Given the description of an element on the screen output the (x, y) to click on. 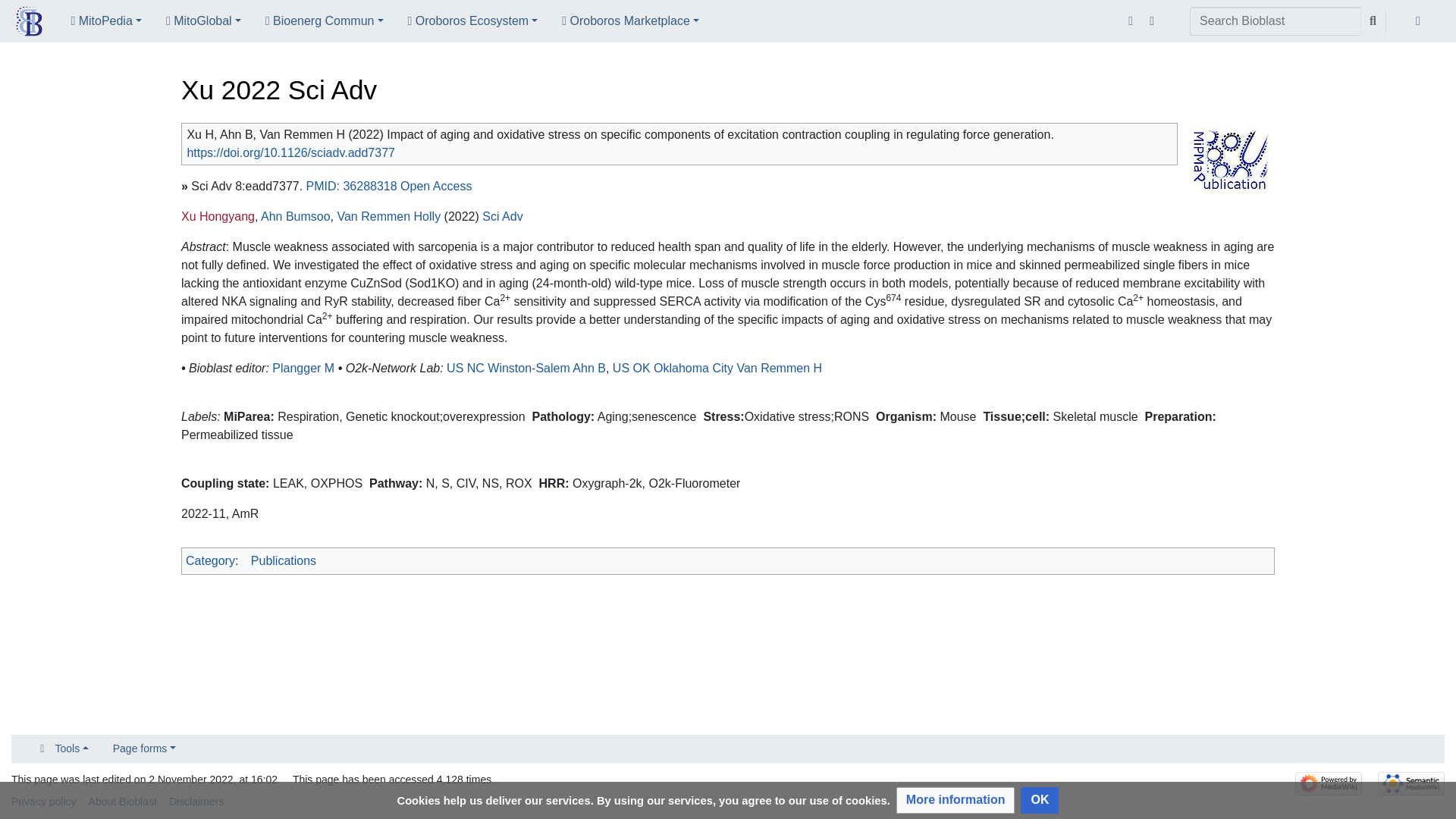
US NC Winston-Salem Ahn B (525, 367)
Plangger M (303, 367)
Van Remmen Holly (388, 215)
Ahn Bumsoo (295, 215)
Visit the main page (28, 22)
Go (1372, 21)
Go to a page with this exact name if it exists (1372, 21)
Sci Adv (501, 215)
US OK Oklahoma City Van Remmen H (717, 367)
Publications in the MiPMap (1229, 157)
